Given the description of an element on the screen output the (x, y) to click on. 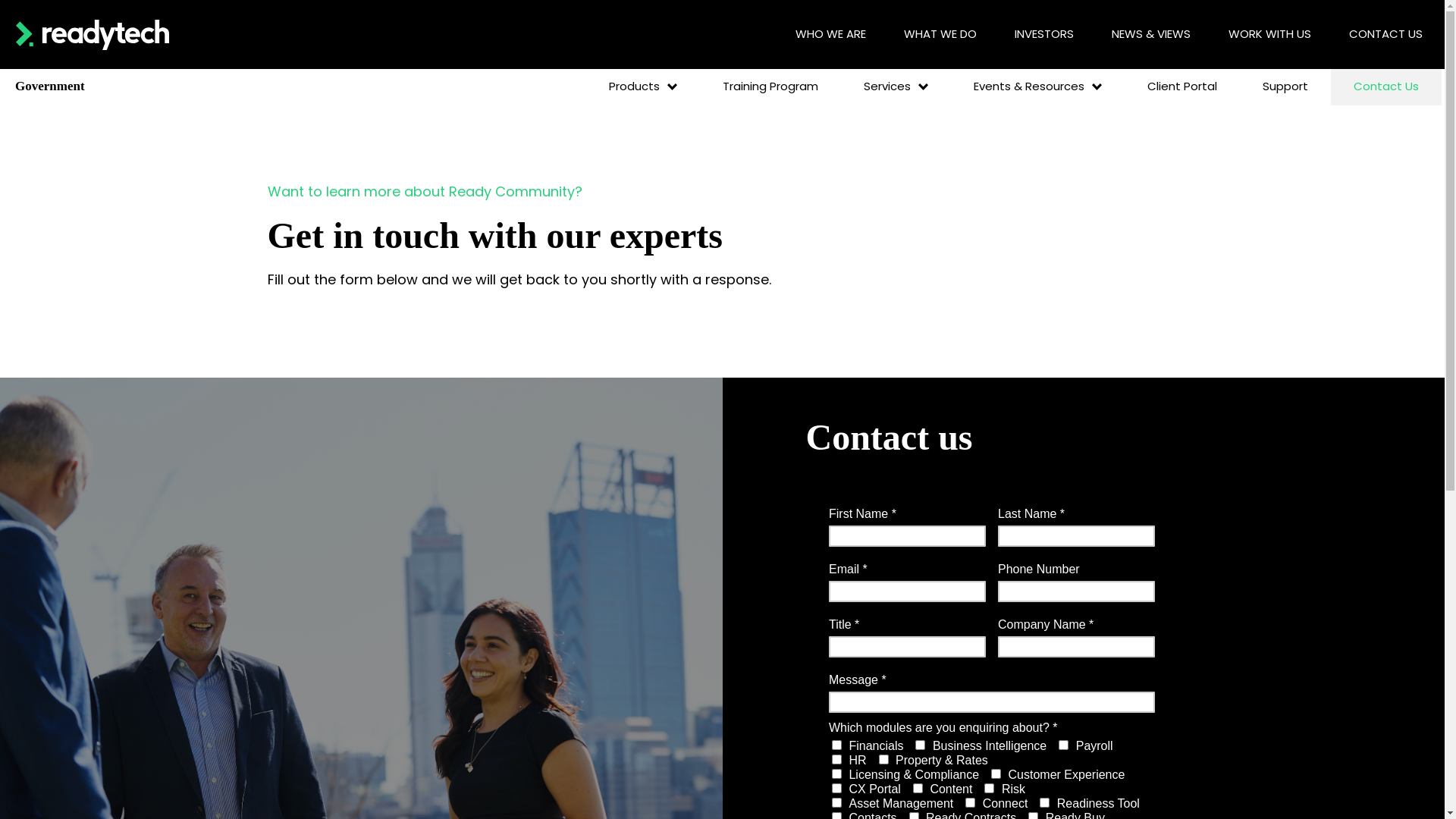
Support Element type: text (1284, 86)
ReadyTech Element type: text (92, 34)
Services Element type: text (895, 86)
Products Element type: text (642, 86)
WHAT WE DO Element type: text (939, 34)
INVESTORS Element type: text (1043, 34)
WORK WITH US Element type: text (1269, 34)
Client Portal Element type: text (1181, 86)
Contact Us Element type: text (1385, 86)
Training Program Element type: text (769, 86)
CONTACT US Element type: text (1385, 34)
NEWS & VIEWS Element type: text (1150, 34)
WHO WE ARE Element type: text (830, 34)
Events & Resources Element type: text (1037, 86)
